Given the description of an element on the screen output the (x, y) to click on. 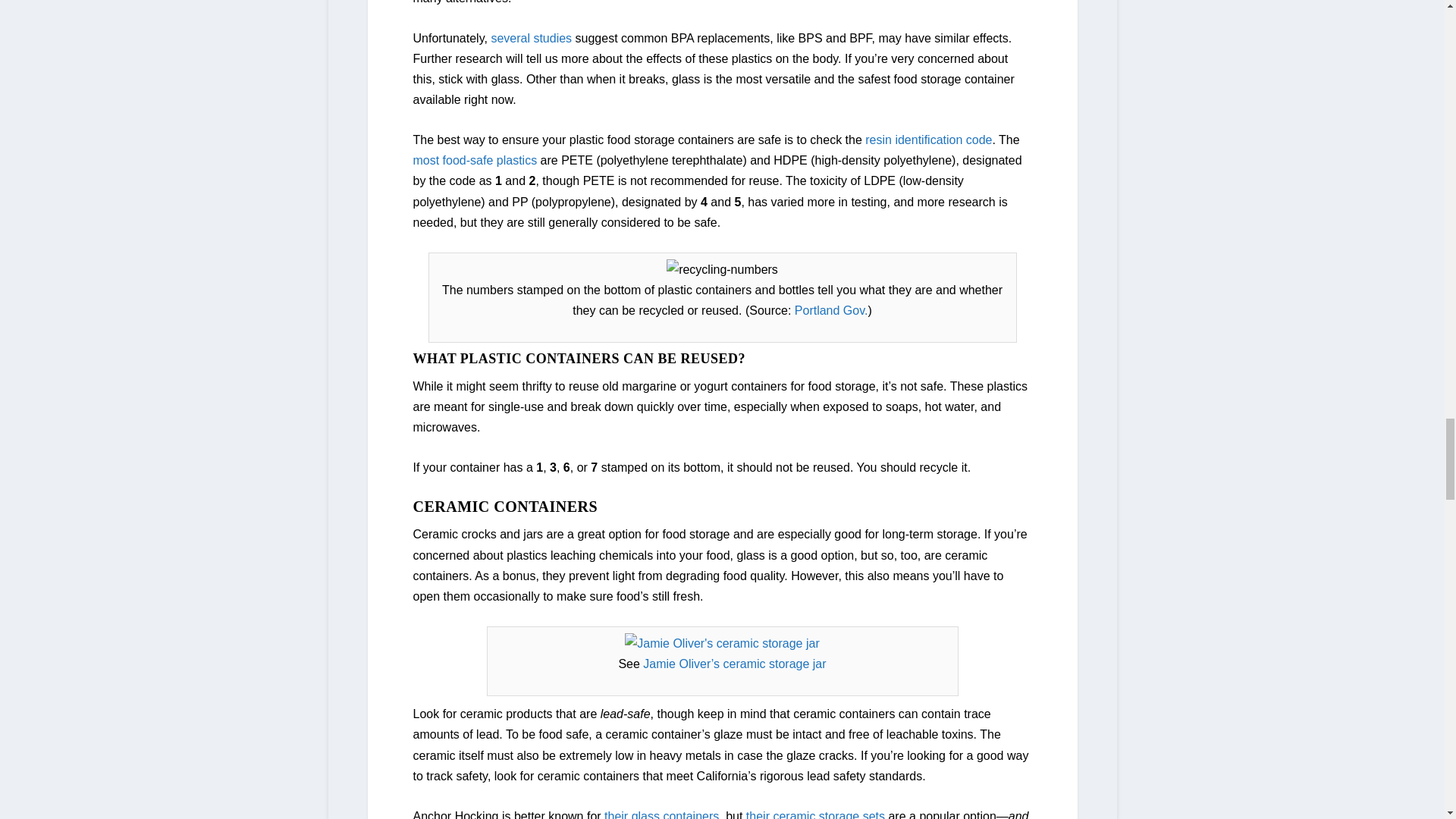
most food-safe plastics (474, 160)
several (509, 38)
studies (552, 38)
